Given the description of an element on the screen output the (x, y) to click on. 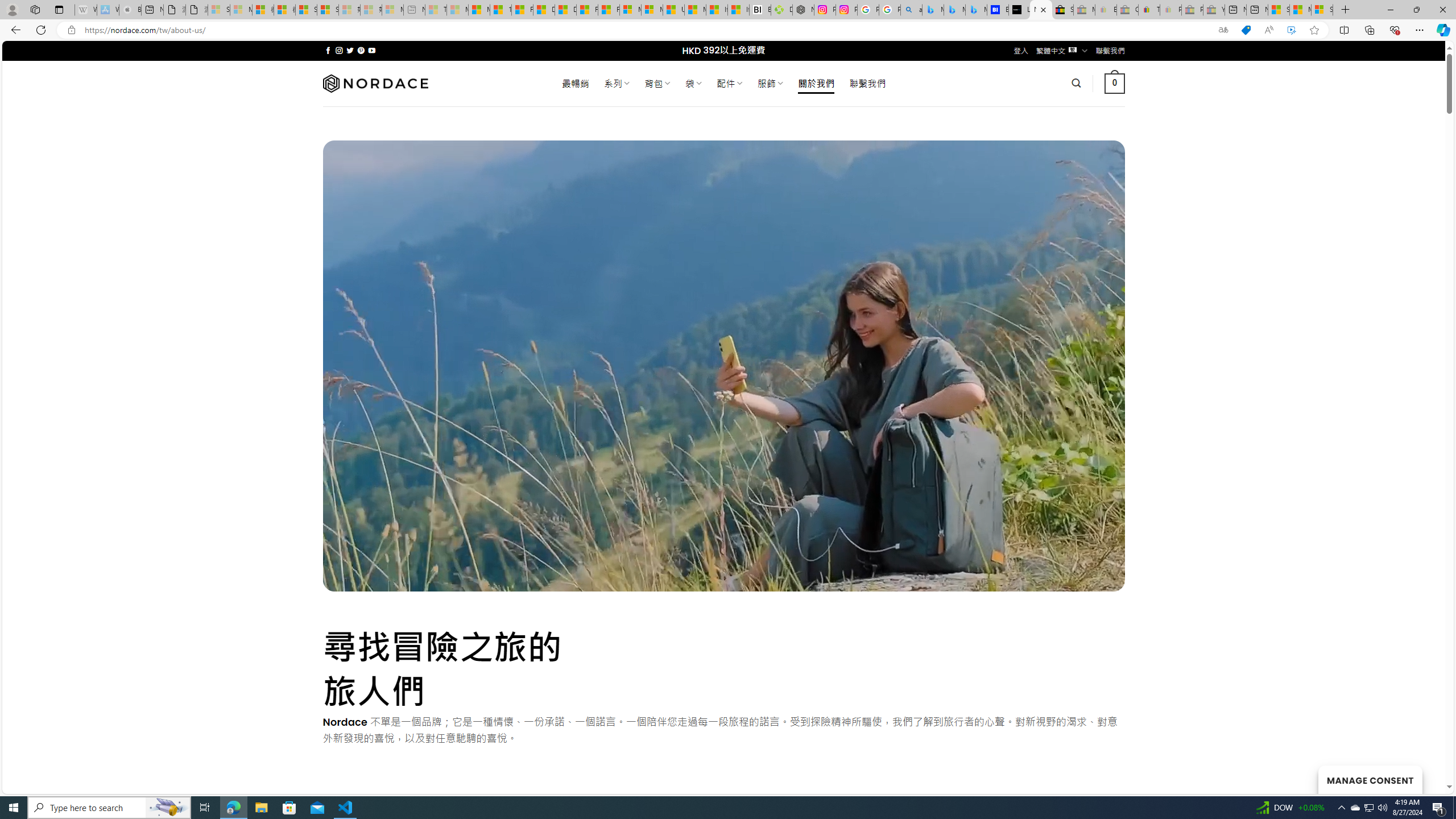
Nordace - Nordace Edin Collection (802, 9)
Drinking tea every day is proven to delay biological aging (565, 9)
